Given the description of an element on the screen output the (x, y) to click on. 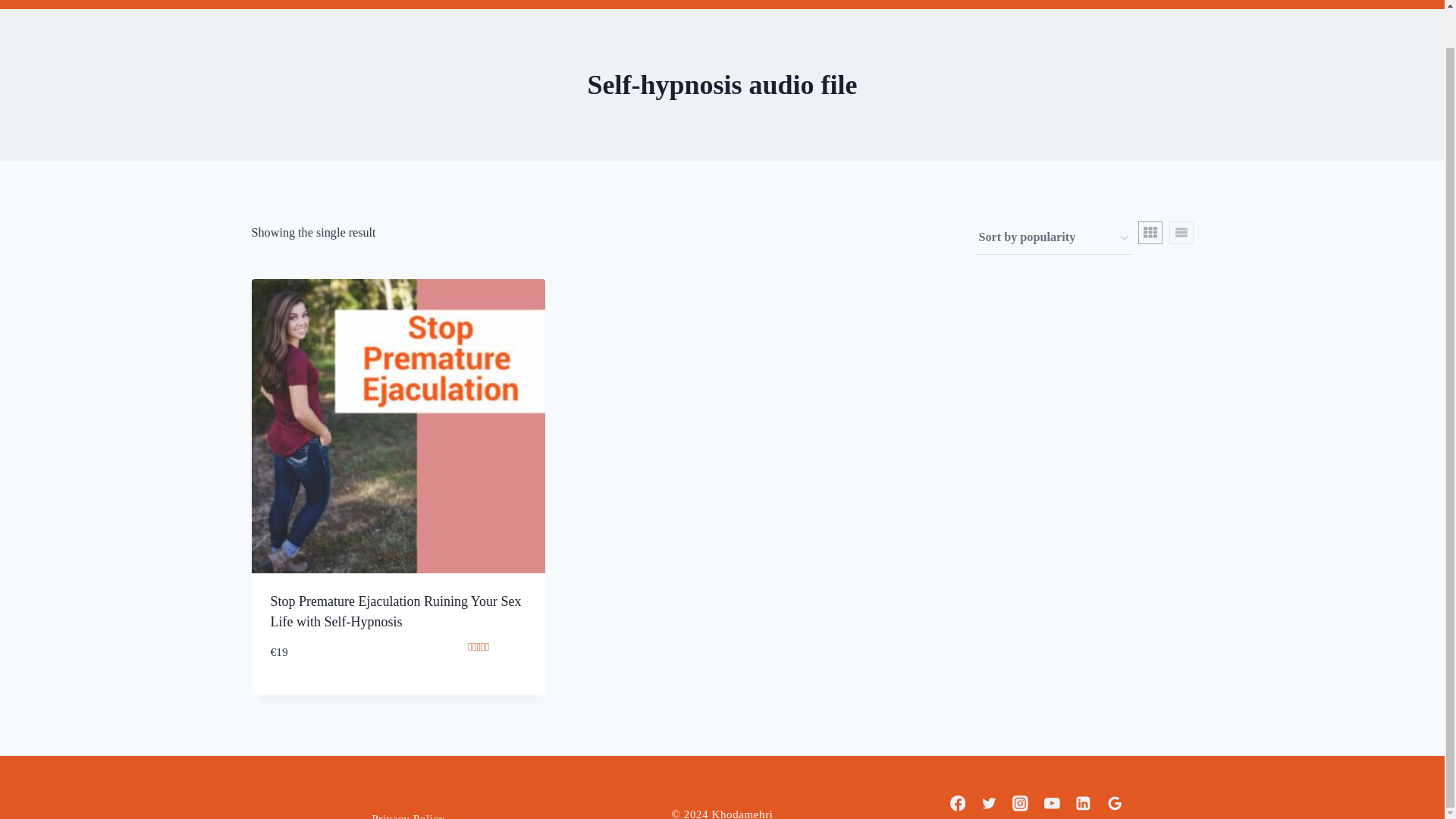
Contact (735, 4)
Persian (890, 4)
Home (577, 4)
German (808, 4)
Persian (890, 4)
Shop (676, 4)
Blog (628, 4)
Grid View (1149, 232)
List View (1181, 232)
